Given the description of an element on the screen output the (x, y) to click on. 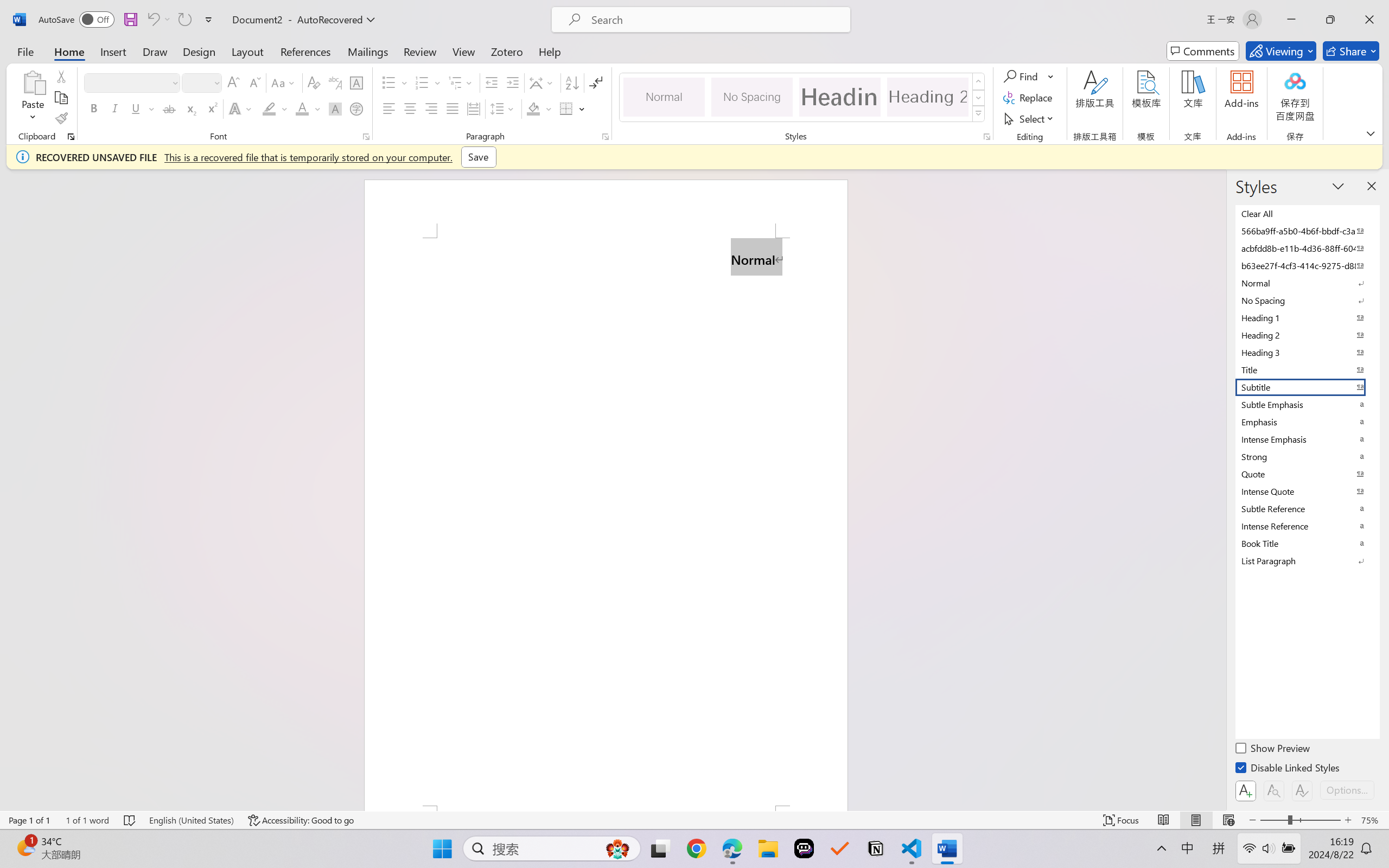
Center (409, 108)
Strong (1306, 456)
No Spacing (1306, 300)
Intense Emphasis (1306, 438)
Asian Layout (542, 82)
Mode (1280, 50)
Copy (60, 97)
Align Left (388, 108)
